Given the description of an element on the screen output the (x, y) to click on. 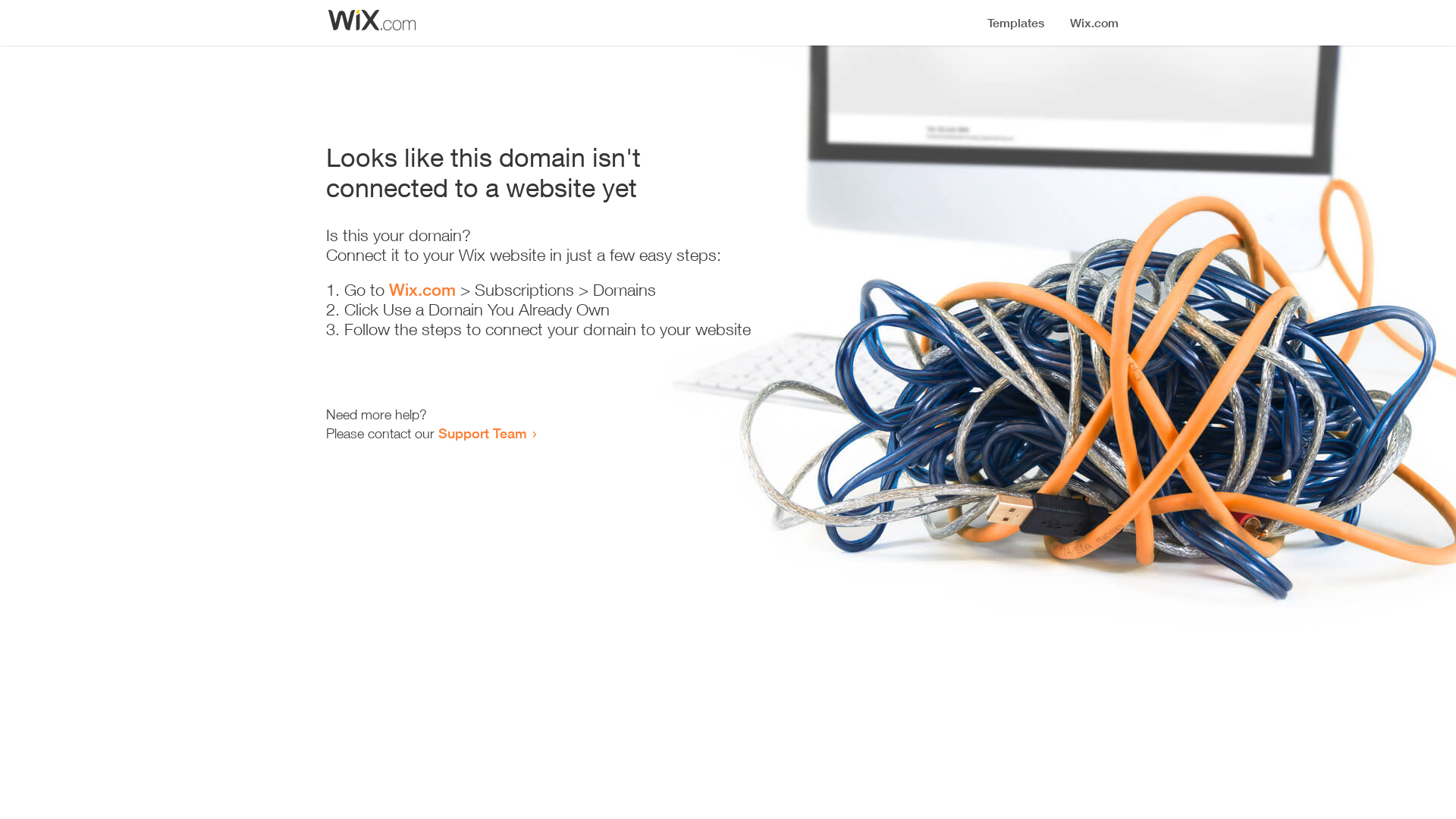
Support Team Element type: text (482, 432)
Wix.com Element type: text (422, 289)
